Given the description of an element on the screen output the (x, y) to click on. 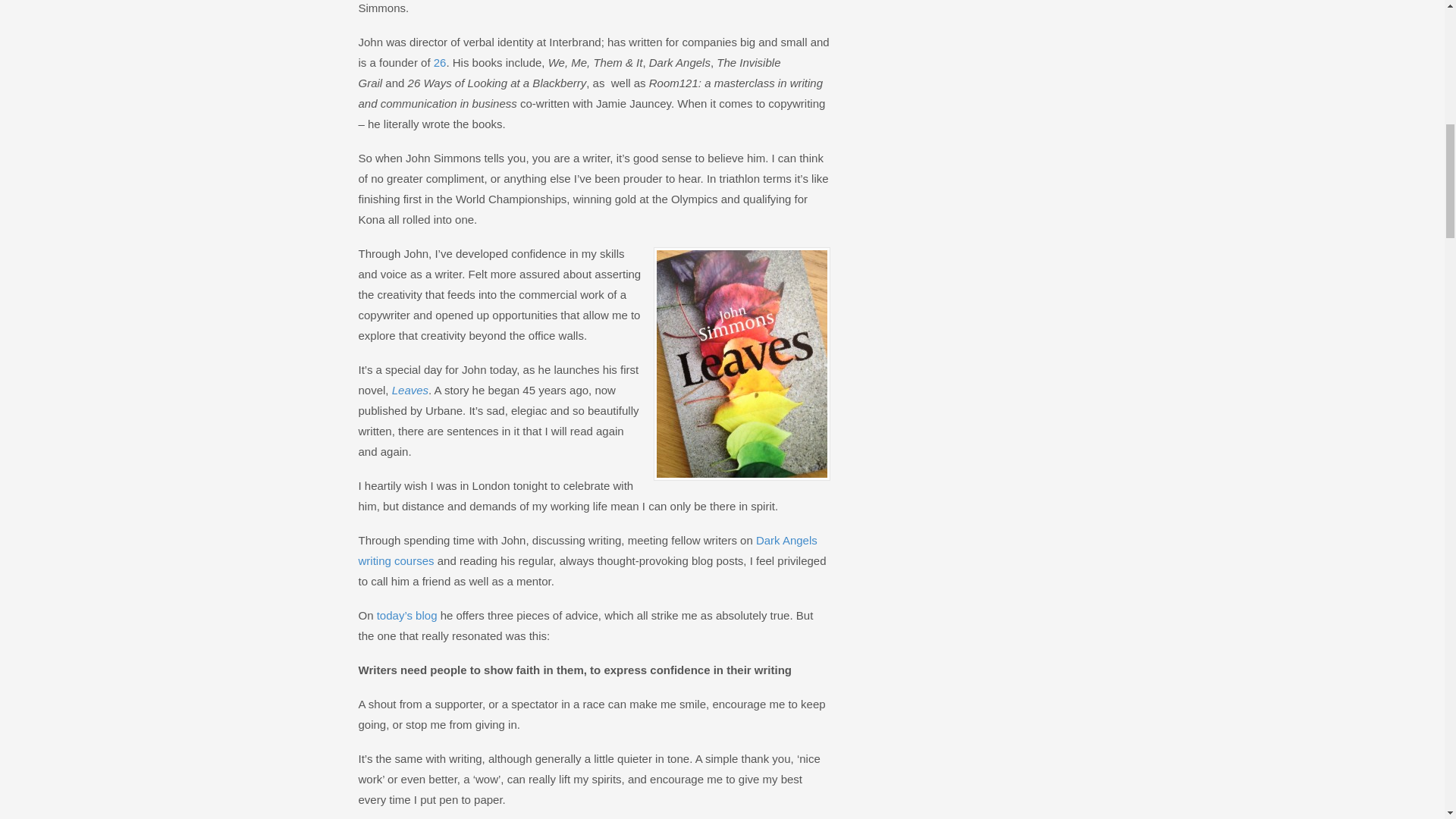
Dark Angels writing courses (587, 550)
26 (439, 62)
Leaves (409, 390)
